Given the description of an element on the screen output the (x, y) to click on. 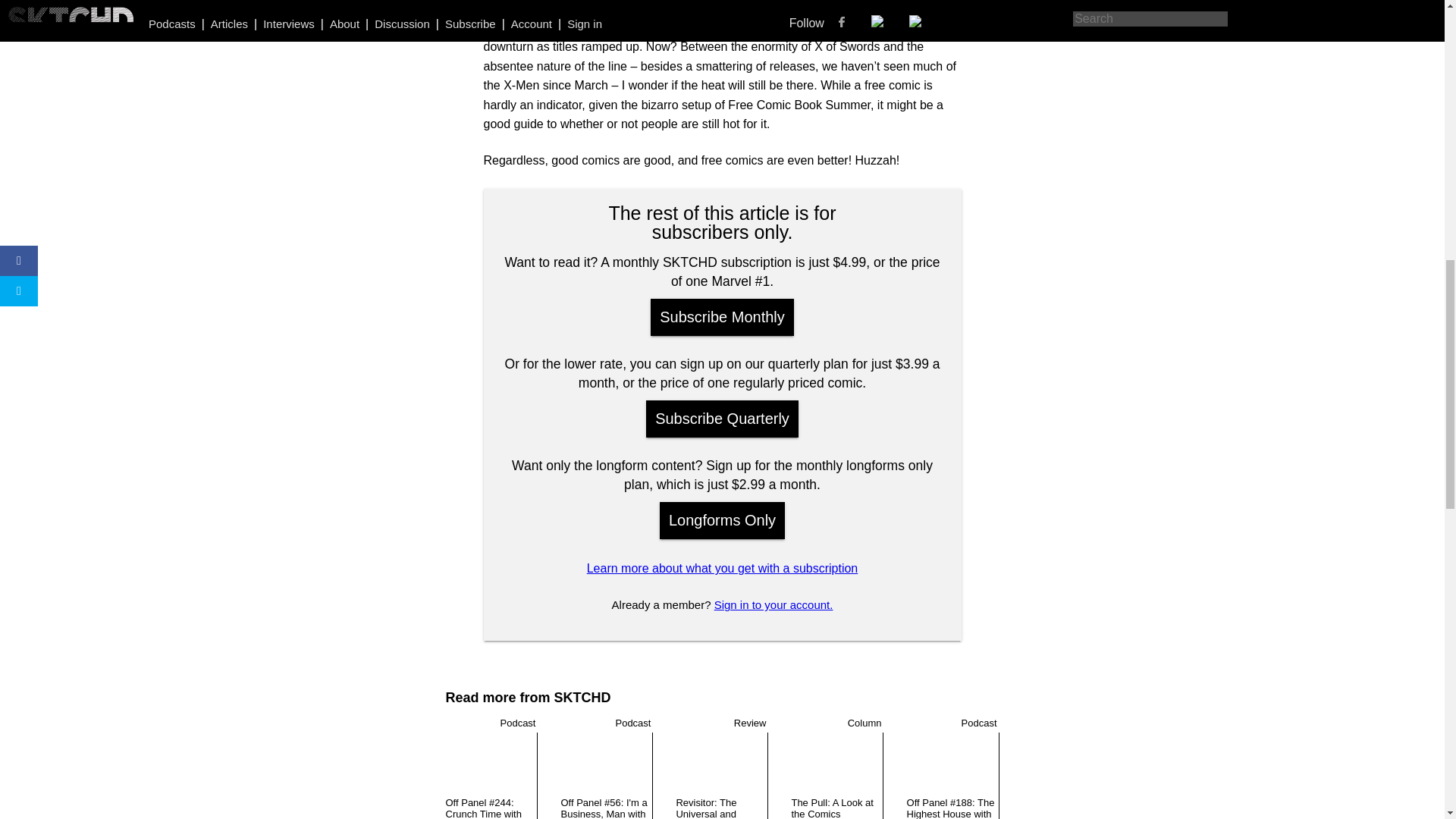
Longforms Only (721, 520)
Subscribe Monthly (721, 316)
Learn more about what you get with a subscription (722, 567)
Sign in to your account. (773, 604)
Subscribe Quarterly (721, 418)
